Given the description of an element on the screen output the (x, y) to click on. 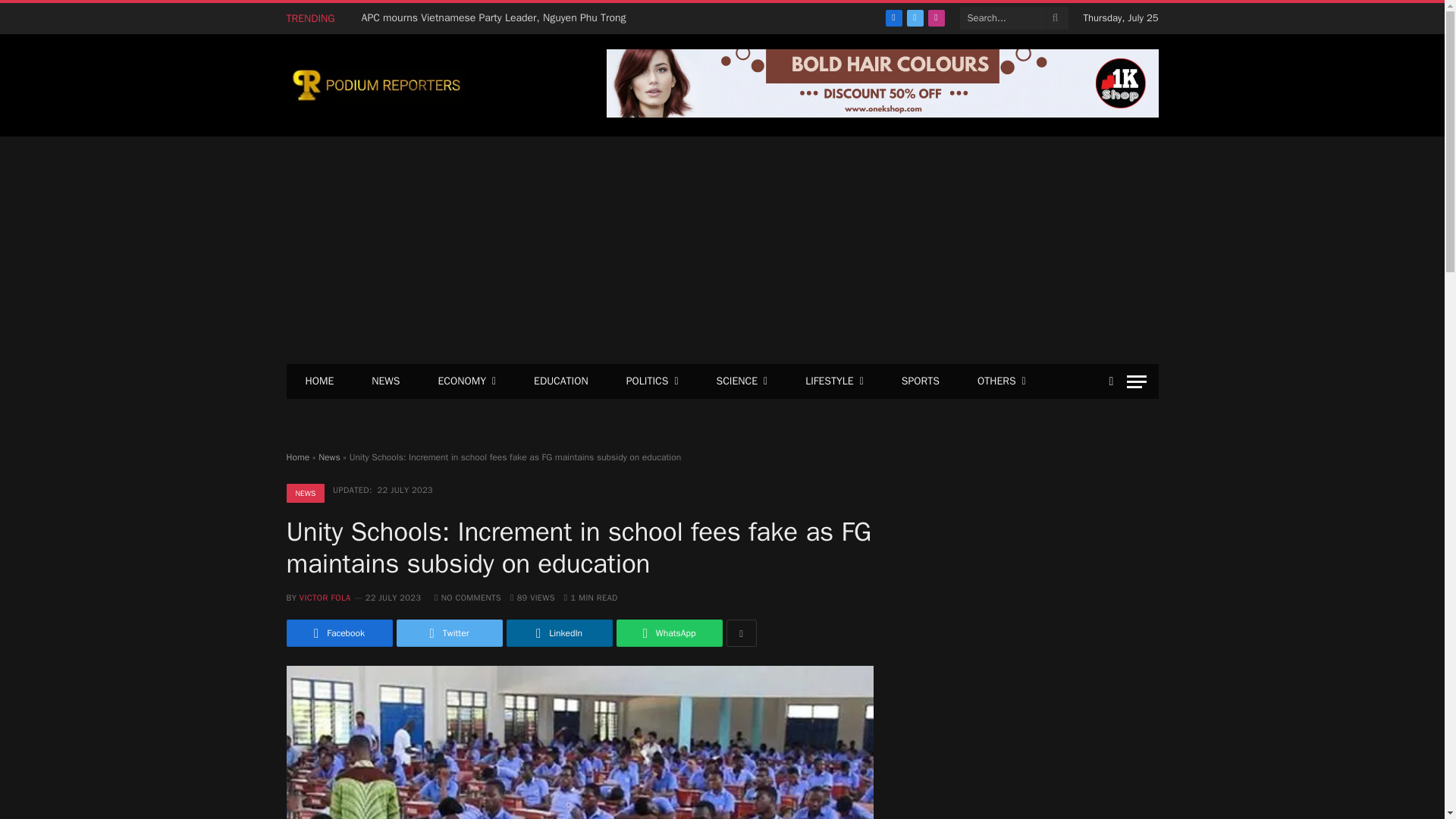
Podium Reporters (375, 84)
APC mourns Vietnamese Party Leader, Nguyen Phu Trong (497, 18)
